Given the description of an element on the screen output the (x, y) to click on. 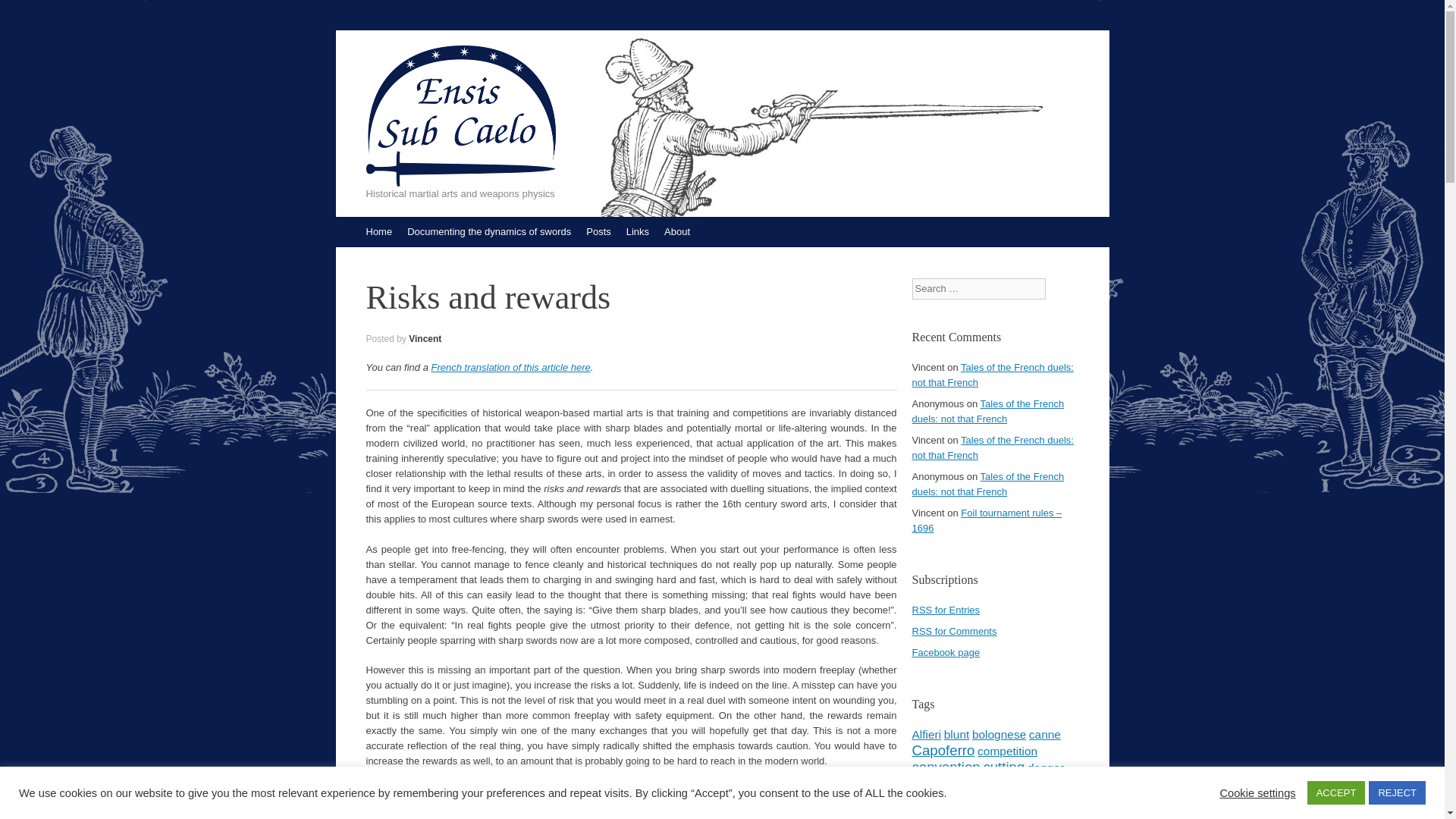
About (676, 232)
Sword dynamics (488, 232)
Posts (598, 232)
Skip to content (342, 223)
Follow on Facebook (945, 652)
French translation of this article here (510, 366)
The latest comments to all posts in RSS (953, 631)
Vincent (425, 338)
Ensis Sub Caelo (459, 115)
Posts (598, 232)
Links (637, 232)
Ensis Sub Caelo (459, 115)
Documenting the dynamics of swords (488, 232)
Home (378, 232)
Syndicate this site using RSS 2.0 (945, 609)
